Given the description of an element on the screen output the (x, y) to click on. 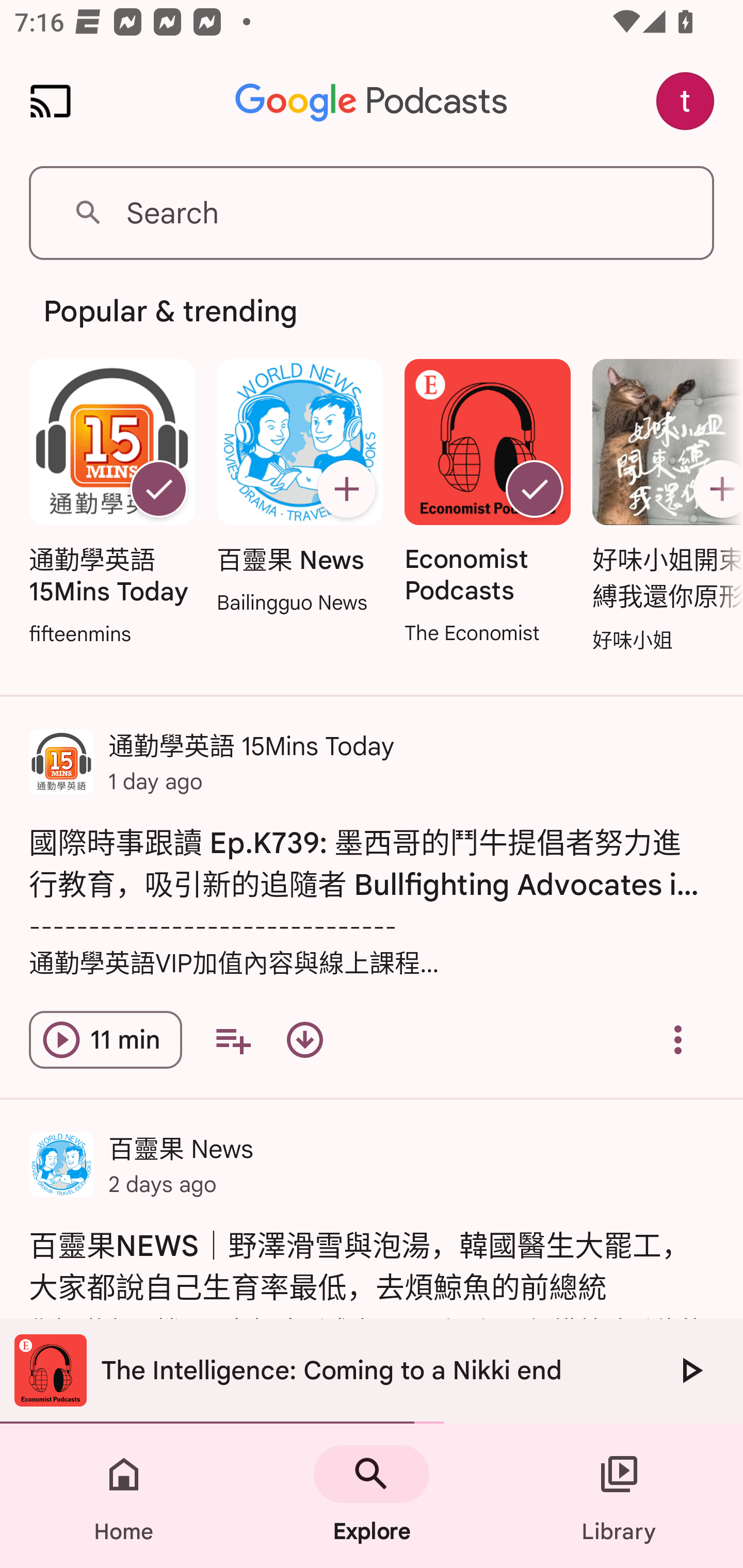
Cast. Disconnected (50, 101)
Search (371, 212)
百靈果 News Subscribe 百靈果 News Bailingguo News (299, 488)
好味小姐開束縛我還你原形 Subscribe 好味小姐開束縛我還你原形 好味小姐 (662, 507)
Unsubscribe (158, 489)
Subscribe (346, 489)
Unsubscribe (534, 489)
Subscribe (714, 489)
Add to your queue (232, 1040)
Download episode (304, 1040)
Overflow menu (677, 1040)
Play (690, 1370)
Home (123, 1495)
Library (619, 1495)
